Given the description of an element on the screen output the (x, y) to click on. 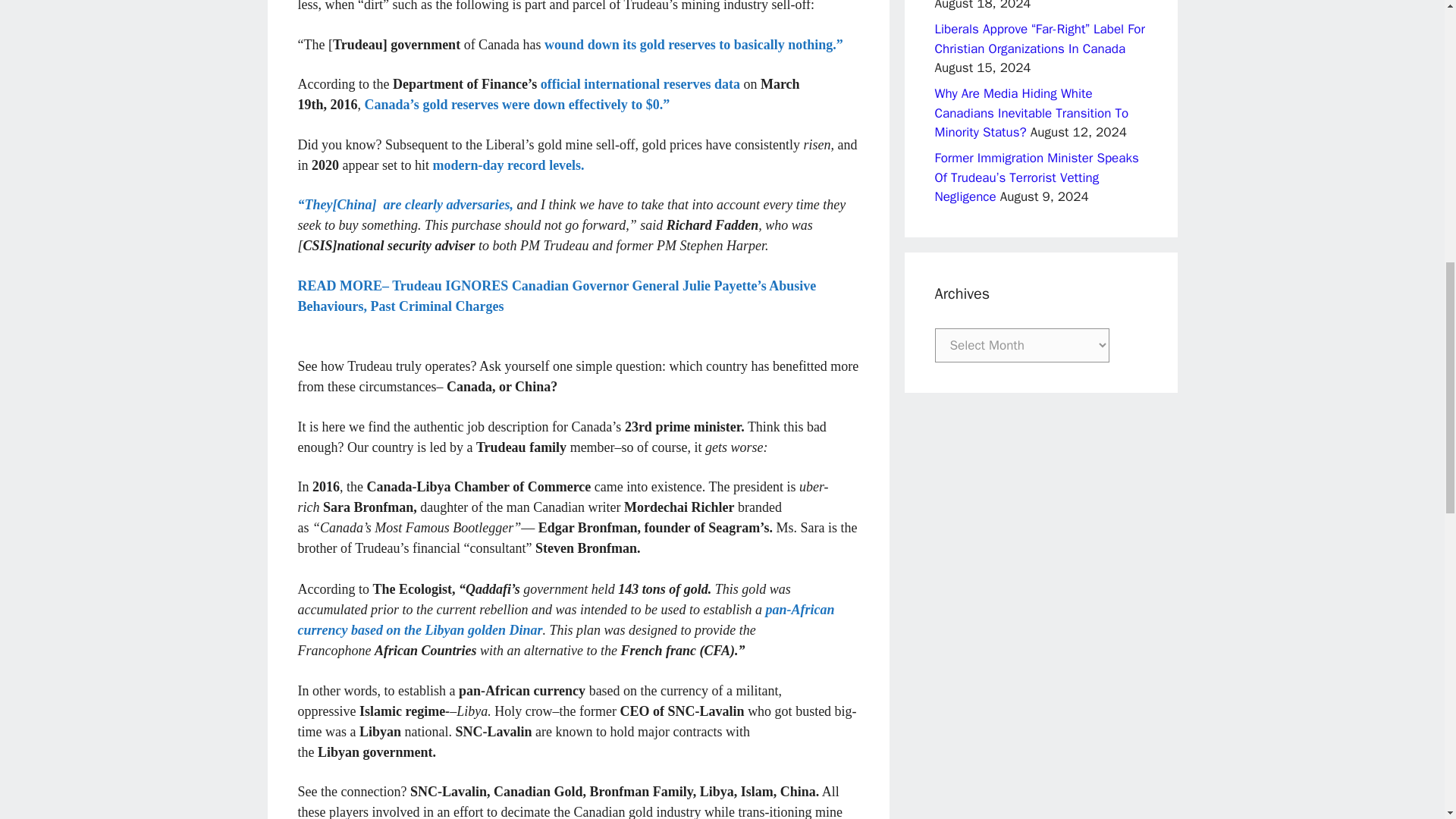
official international reserves data (639, 83)
modern-day record levels. (507, 165)
pan-African currency based on the Libyan golden Dinar (565, 619)
